Given the description of an element on the screen output the (x, y) to click on. 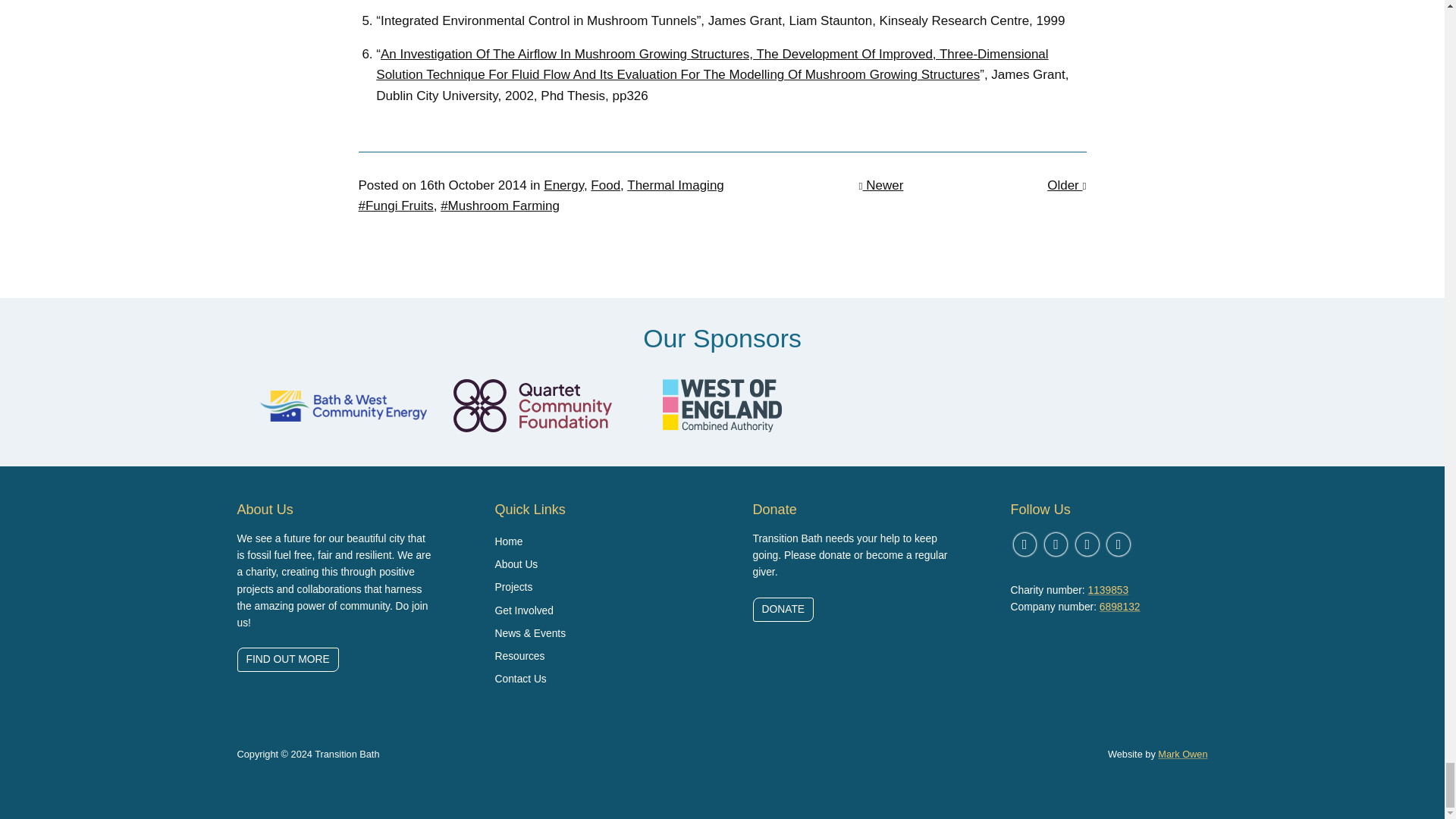
Transition Together (911, 405)
Quartet Community Foundation (531, 405)
Funded by the West of England Combined Authority (722, 405)
